Given the description of an element on the screen output the (x, y) to click on. 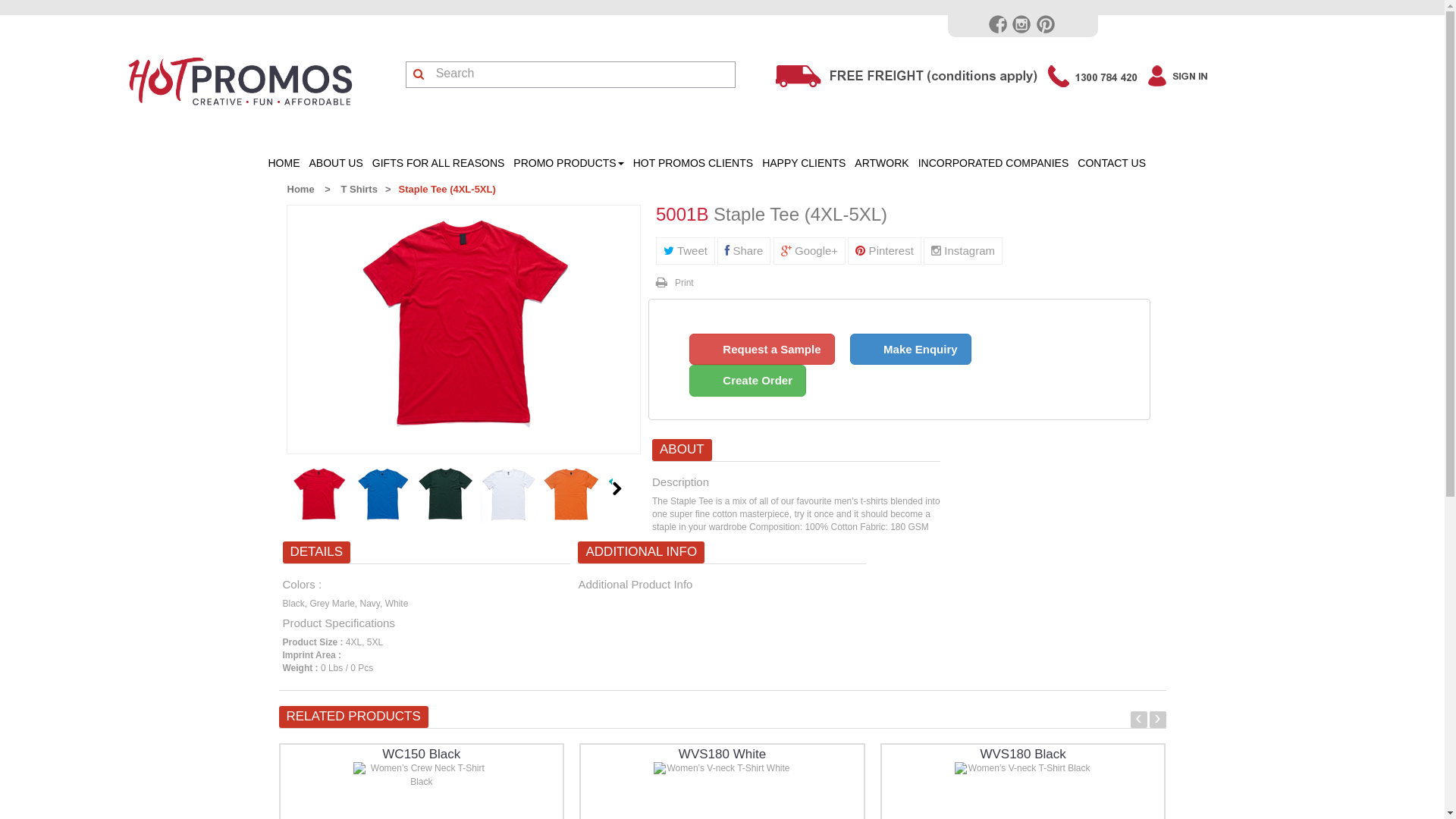
Tweet Element type: text (685, 250)
ABOUT US Element type: text (335, 163)
Next Element type: text (616, 487)
Instagram Element type: text (962, 250)
Print Element type: text (674, 282)
GIFTS FOR ALL REASONS Element type: text (438, 163)
Hot Promos Element type: hover (240, 79)
ARTWORK Element type: text (881, 163)
Home Element type: text (299, 188)
Pinterest Element type: text (883, 250)
Share Element type: text (743, 250)
Google+ Element type: text (809, 250)
  Create Order Element type: text (747, 380)
Staple Tee (4XL-5XL) Element type: hover (463, 322)
  Make Enquiry Element type: text (910, 349)
HOME Element type: text (283, 163)
HOT PROMOS CLIENTS Element type: text (692, 163)
PROMO PRODUCTS Element type: text (567, 163)
INCORPORATED COMPANIES Element type: text (993, 163)
T Shirts Element type: text (358, 188)
  Request a Sample Element type: text (761, 349)
Staple Tee (4XL-5XL) Element type: hover (463, 329)
HAPPY CLIENTS Element type: text (803, 163)
CONTACT US Element type: text (1111, 163)
